Given the description of an element on the screen output the (x, y) to click on. 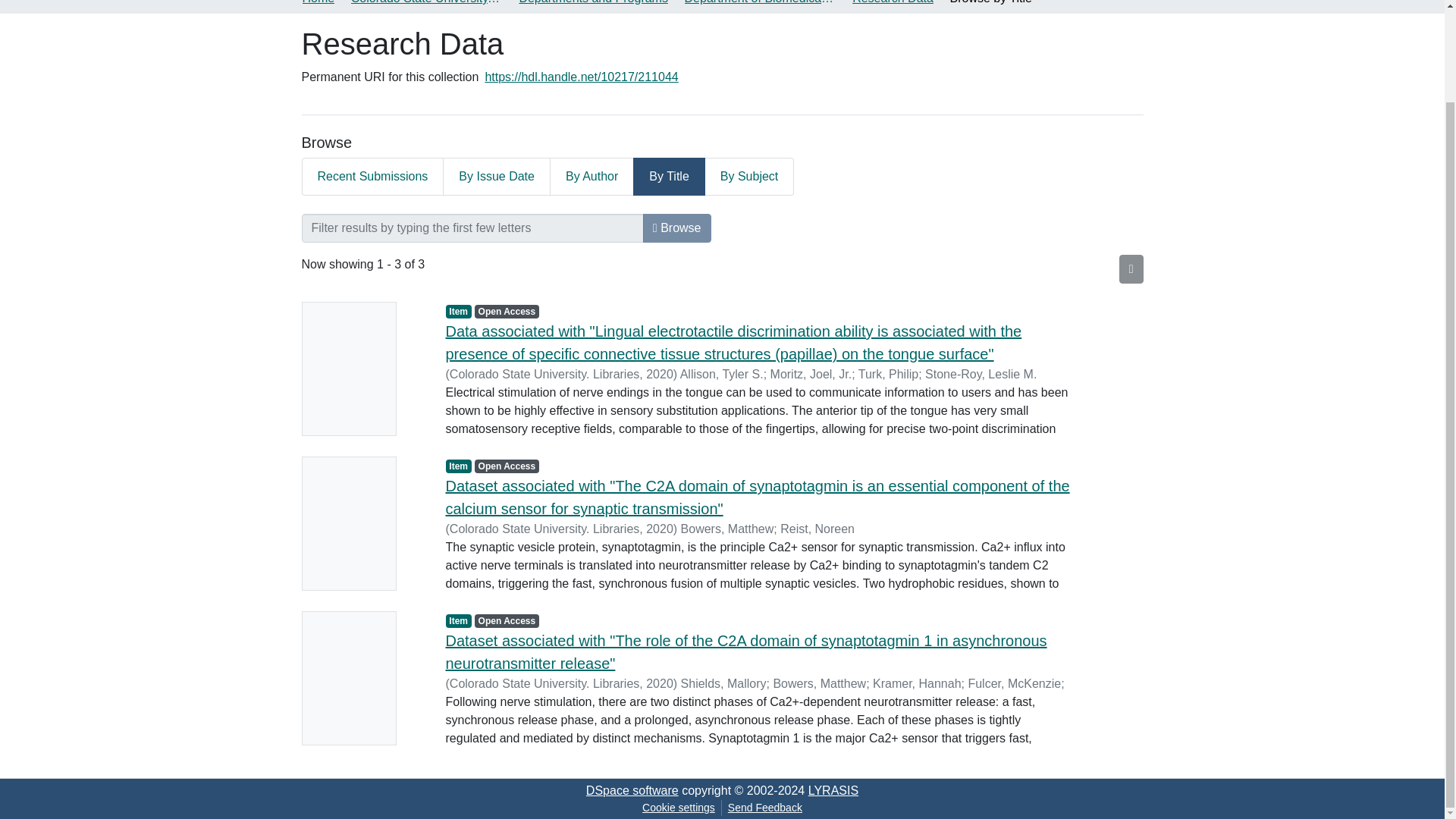
By Issue Date (497, 176)
Colorado State University, Fort Collins (426, 3)
Home (317, 3)
No Thumbnail Available (362, 368)
No Thumbnail Available (362, 523)
Browse (677, 227)
By Author (591, 176)
Departments and Programs (593, 3)
Research Data (892, 3)
By Subject (748, 176)
